Given the description of an element on the screen output the (x, y) to click on. 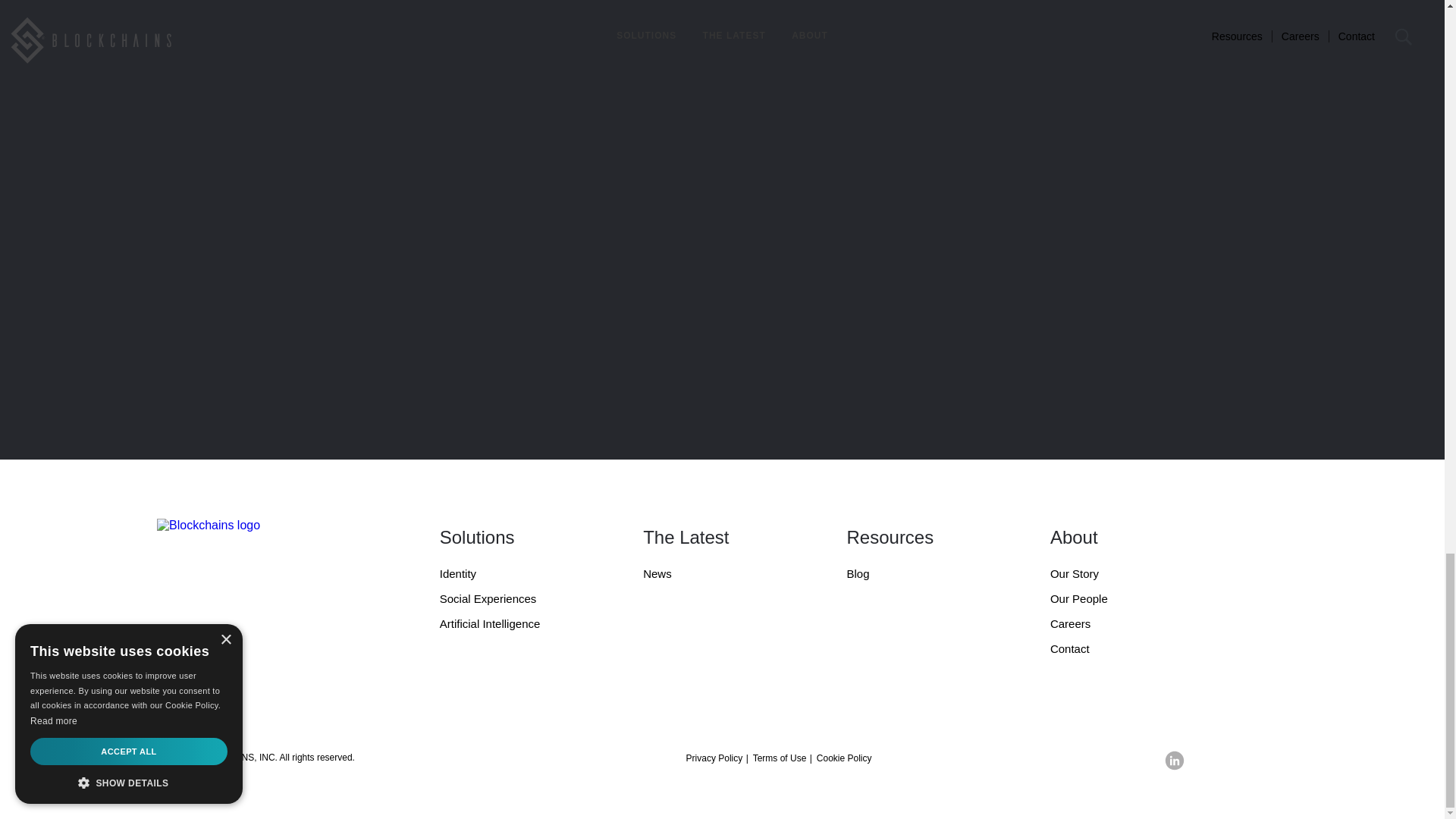
Terms of Use (779, 767)
Cookie Policy (844, 757)
Our People (1120, 604)
Privacy Policy (713, 767)
News (713, 579)
Our Story (1120, 579)
Social Experiences (509, 604)
Careers (1120, 629)
Identity (509, 579)
Artificial Intelligence (509, 629)
Contact (1120, 654)
Blog (916, 579)
